Given the description of an element on the screen output the (x, y) to click on. 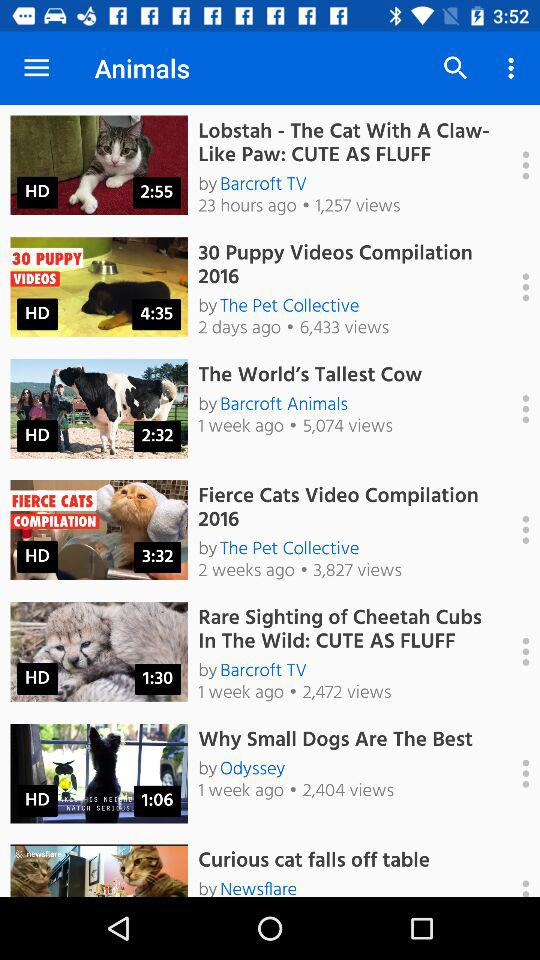
more information about video (515, 529)
